Given the description of an element on the screen output the (x, y) to click on. 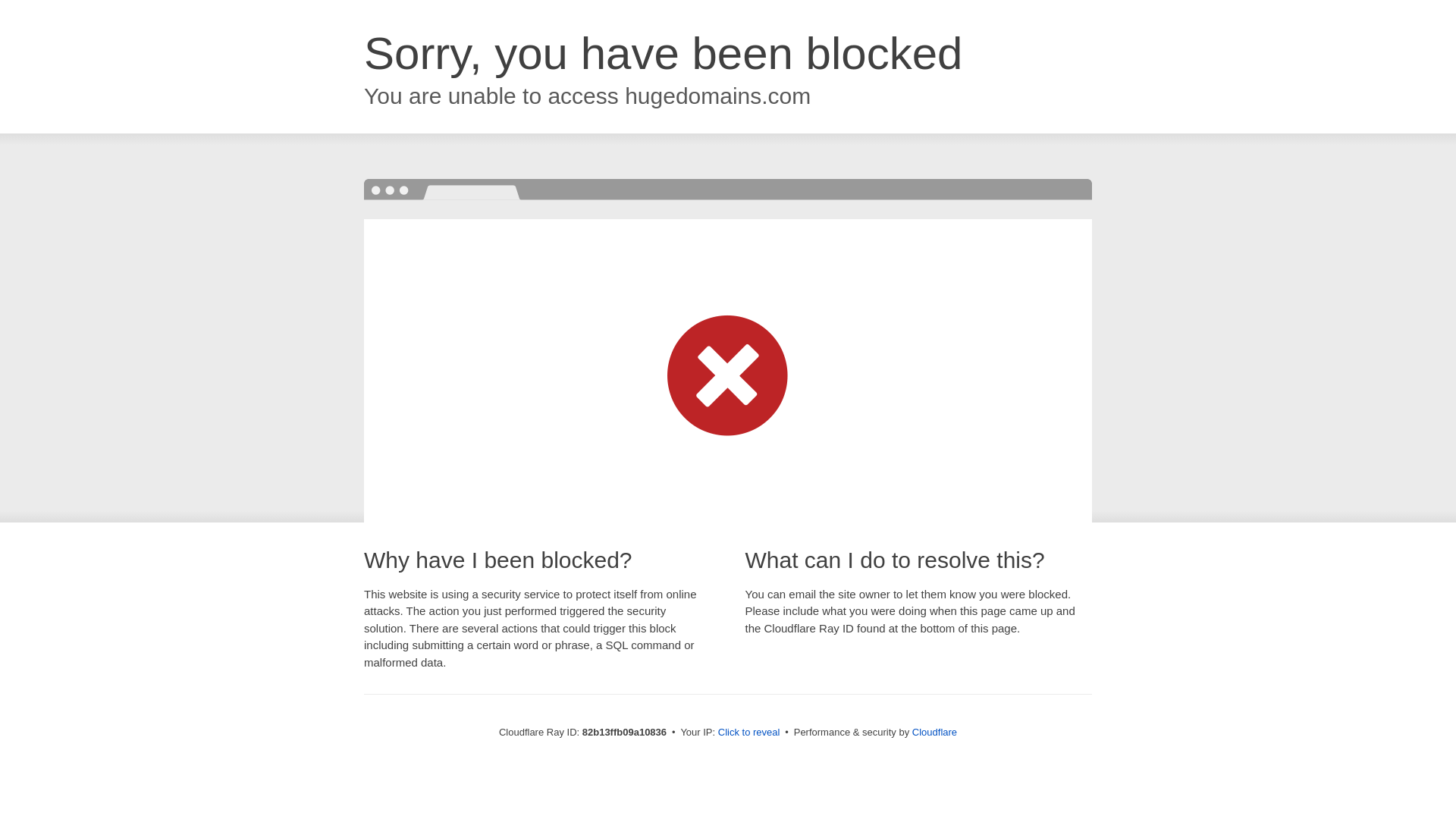
Click to reveal Element type: text (749, 732)
Cloudflare Element type: text (934, 731)
